Given the description of an element on the screen output the (x, y) to click on. 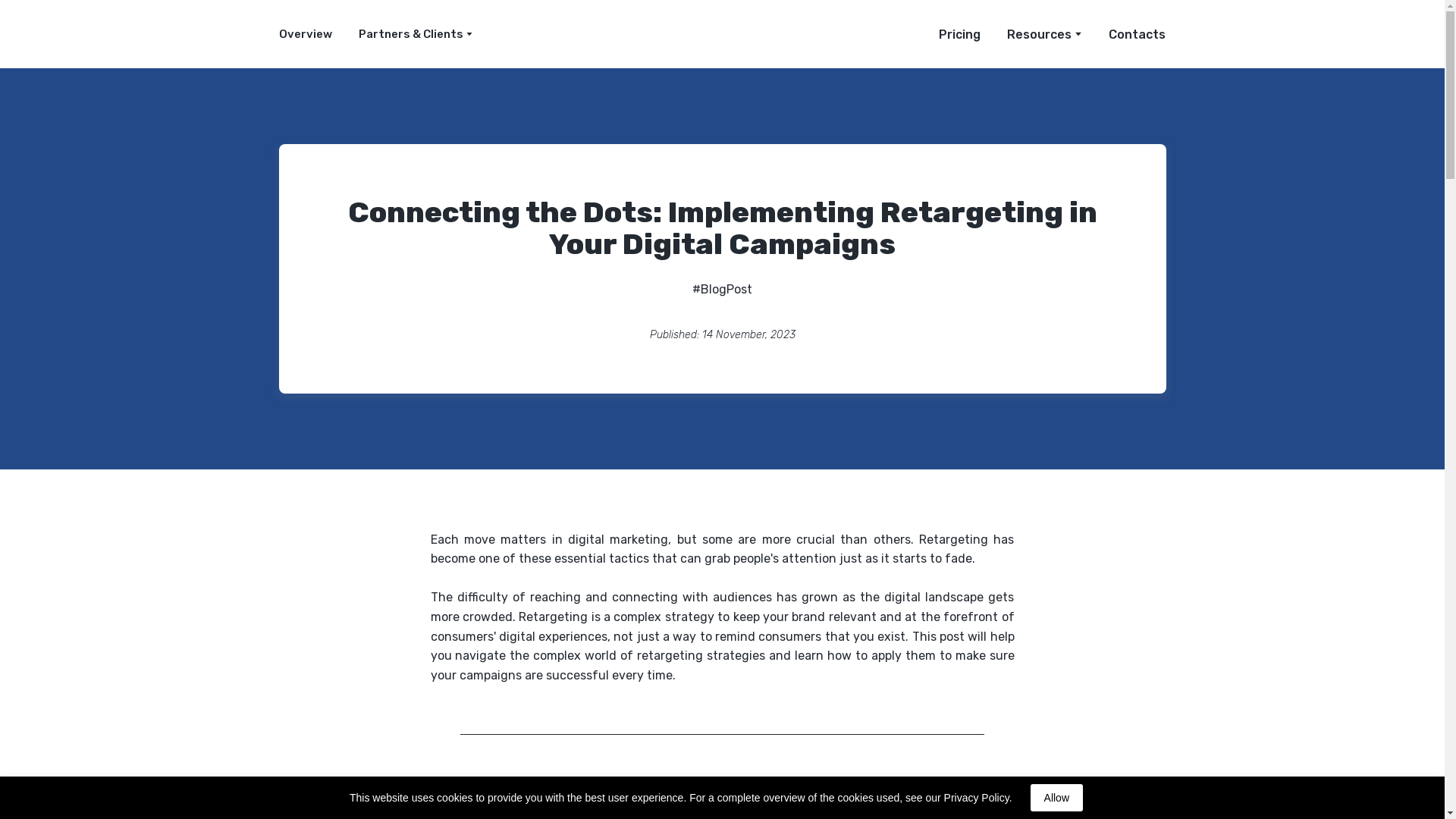
Overview (305, 33)
Pricing (959, 34)
Contacts (1137, 34)
